Given the description of an element on the screen output the (x, y) to click on. 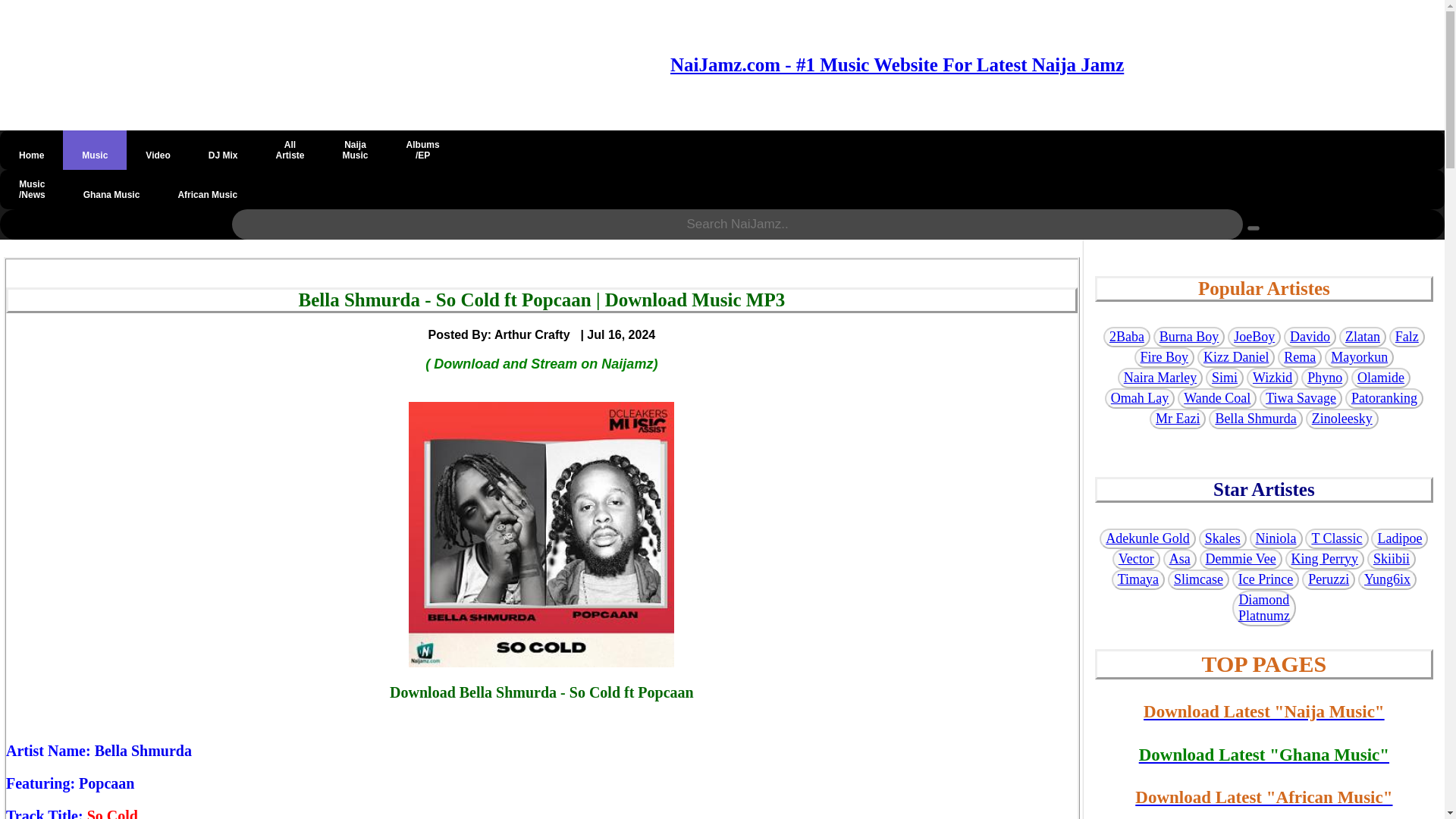
Ghana Music (111, 189)
Music (94, 149)
Search source code (1253, 228)
Home (31, 149)
DJ Mix (223, 149)
Bella Shmurda (143, 750)
Popcaan (105, 782)
Video (157, 149)
African Music (290, 149)
Posted By: Arthur Crafty   (355, 149)
